Given the description of an element on the screen output the (x, y) to click on. 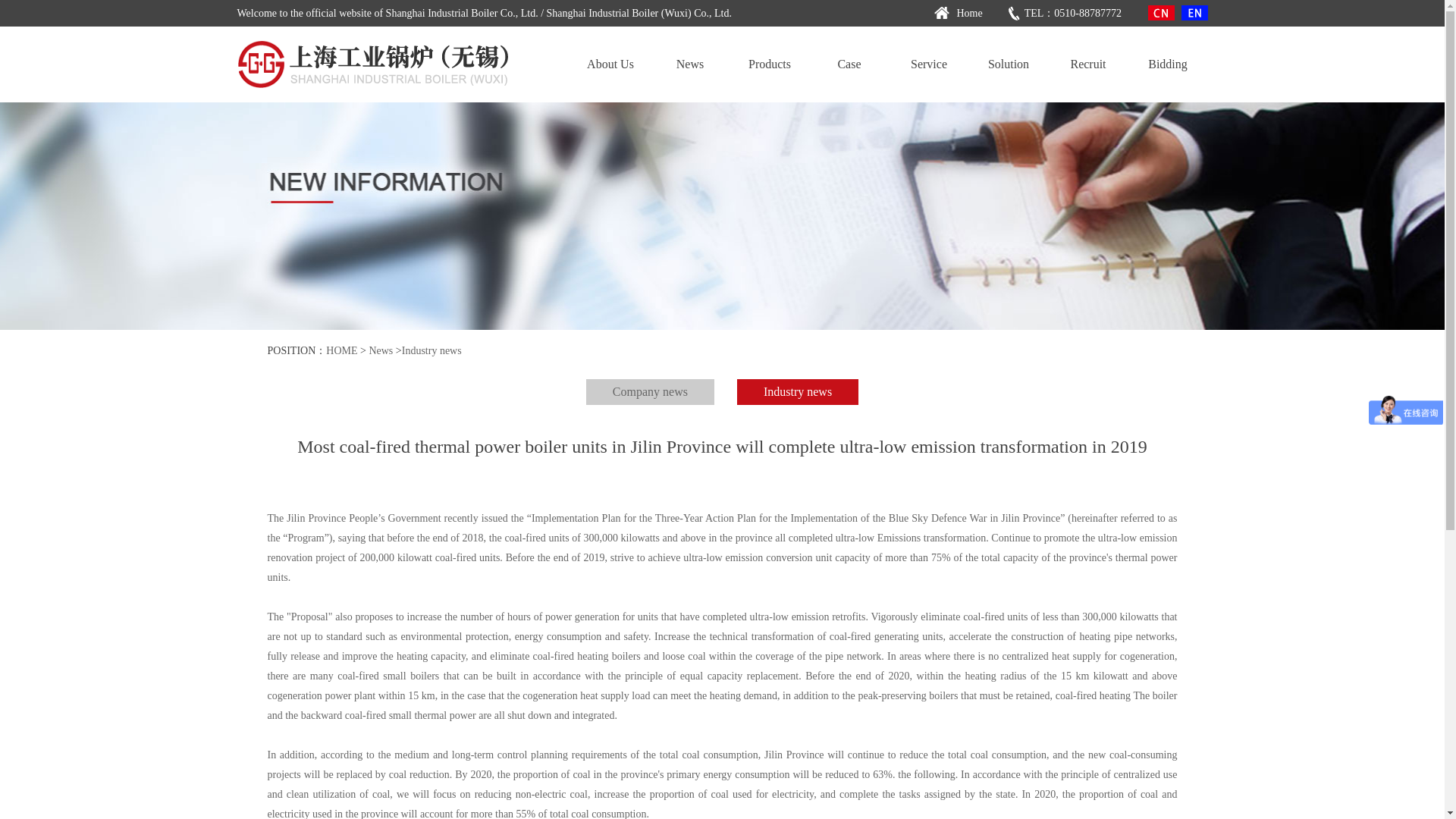
Industry news (797, 391)
Company news (650, 391)
Home (967, 13)
About Us (609, 64)
Products (769, 64)
News (690, 64)
Case (849, 64)
